Given the description of an element on the screen output the (x, y) to click on. 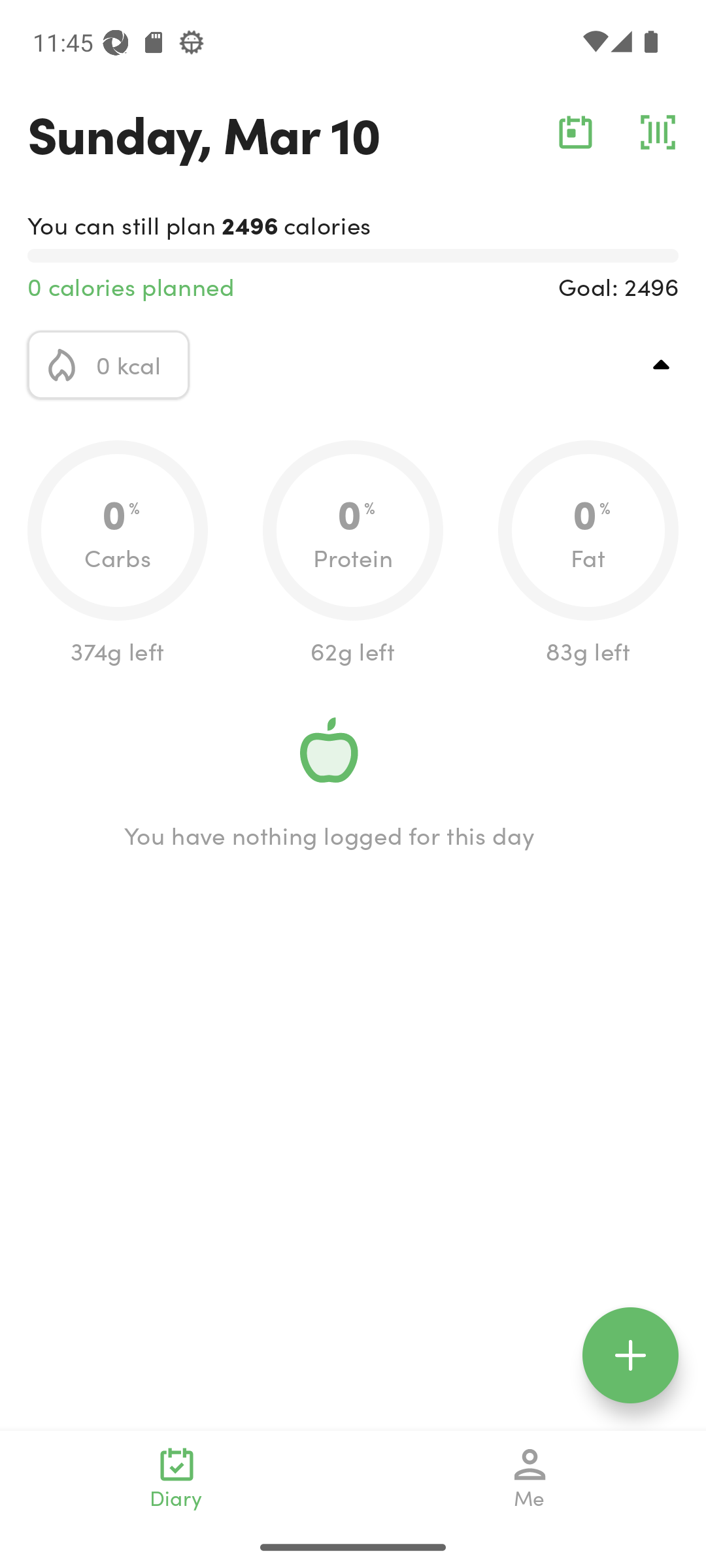
calendar_action (575, 132)
barcode_action (658, 132)
calorie_icon 0 kcal (108, 365)
top_right_action (661, 365)
0.0 0 % Carbs 374g left (117, 553)
0.0 0 % Protein 62g left (352, 553)
0.0 0 % Fat 83g left (588, 553)
floating_action_icon (630, 1355)
Me navigation_icon (529, 1478)
